Given the description of an element on the screen output the (x, y) to click on. 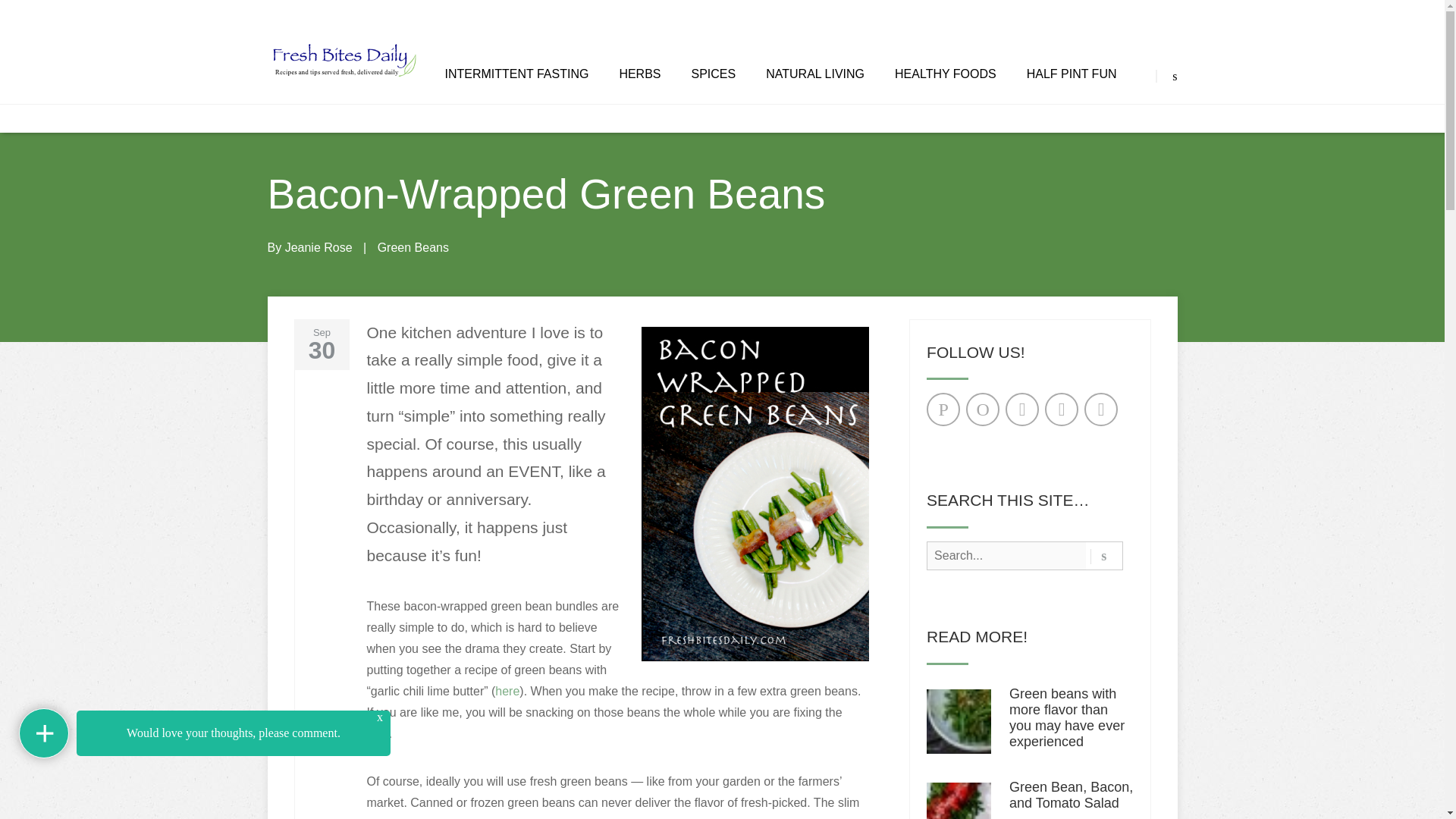
SPICES (713, 74)
NATURAL LIVING (814, 74)
HERBS (639, 74)
HEALTHY FOODS (945, 74)
INTERMITTENT FASTING (516, 74)
